Given the description of an element on the screen output the (x, y) to click on. 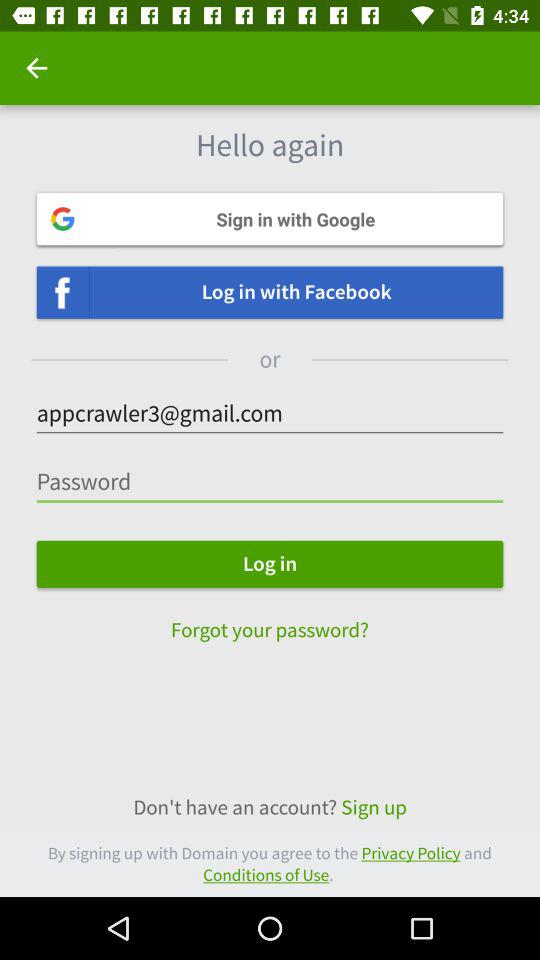
jump to the forgot your password? icon (269, 619)
